Given the description of an element on the screen output the (x, y) to click on. 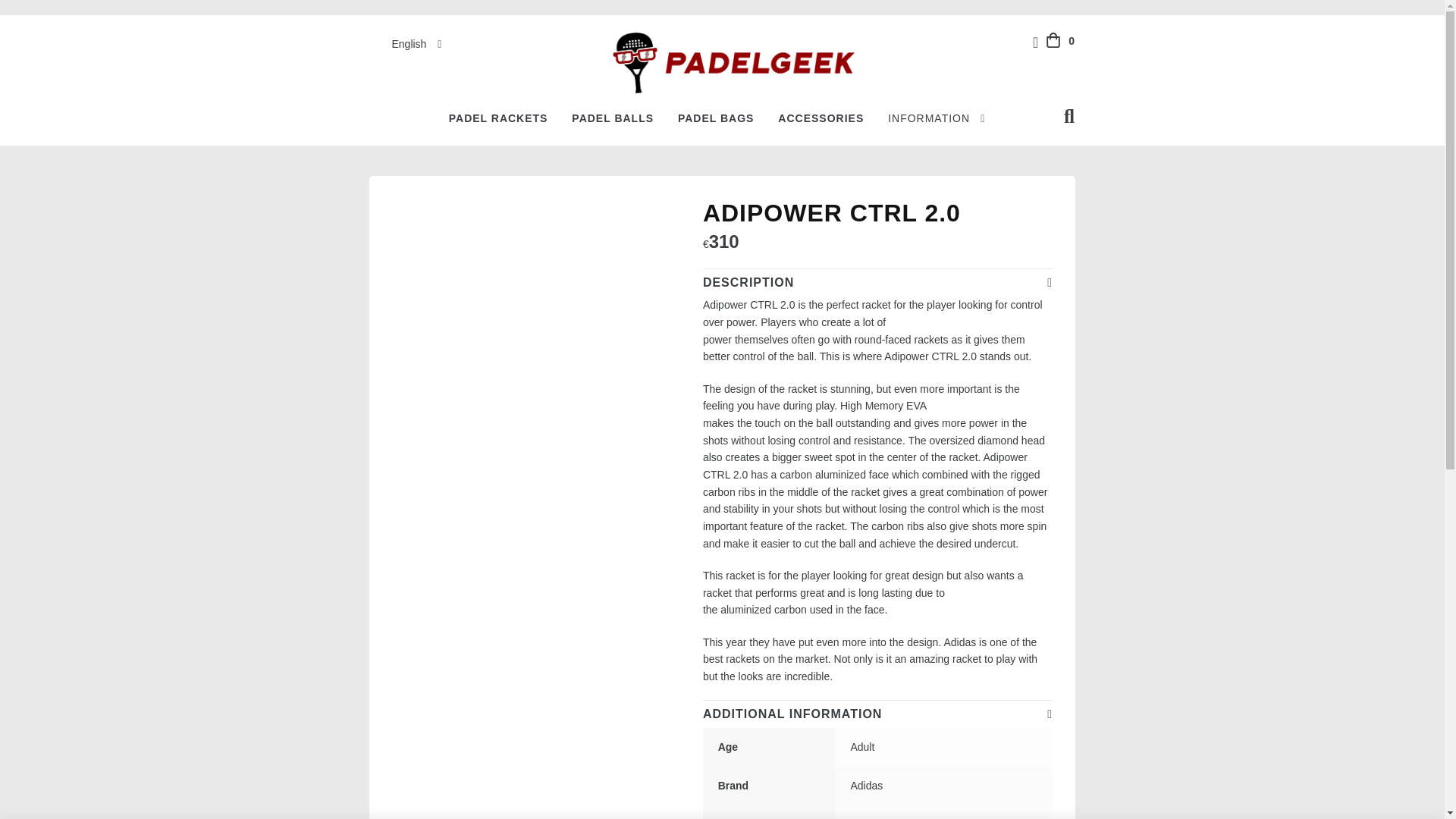
0 (1060, 40)
ADDITIONAL INFORMATION (877, 714)
PADEL BALLS (611, 118)
English (405, 43)
PADEL BAGS (715, 118)
View your shopping cart (1060, 40)
DESCRIPTION (877, 282)
PADEL RACKETS (498, 118)
INFORMATION (936, 119)
